Given the description of an element on the screen output the (x, y) to click on. 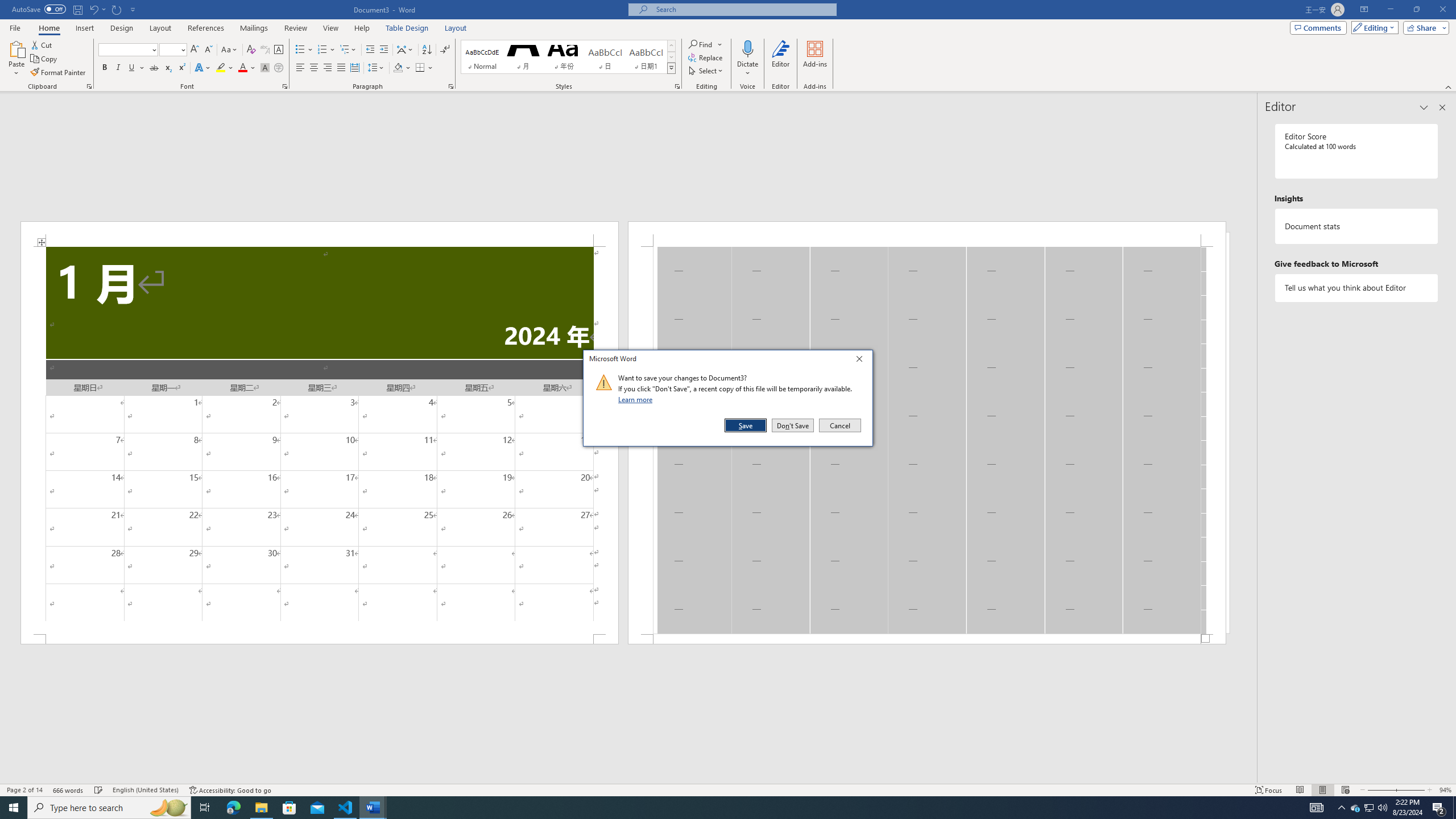
Shading (402, 67)
Save (746, 425)
Font (128, 49)
Align Right (327, 67)
Close pane (1441, 107)
Row Down (670, 56)
Restore Down (1416, 9)
Increase Indent (383, 49)
Ribbon Display Options (1364, 9)
Decrease Indent (370, 49)
View (330, 28)
Focus  (1268, 790)
Numbering (326, 49)
